Given the description of an element on the screen output the (x, y) to click on. 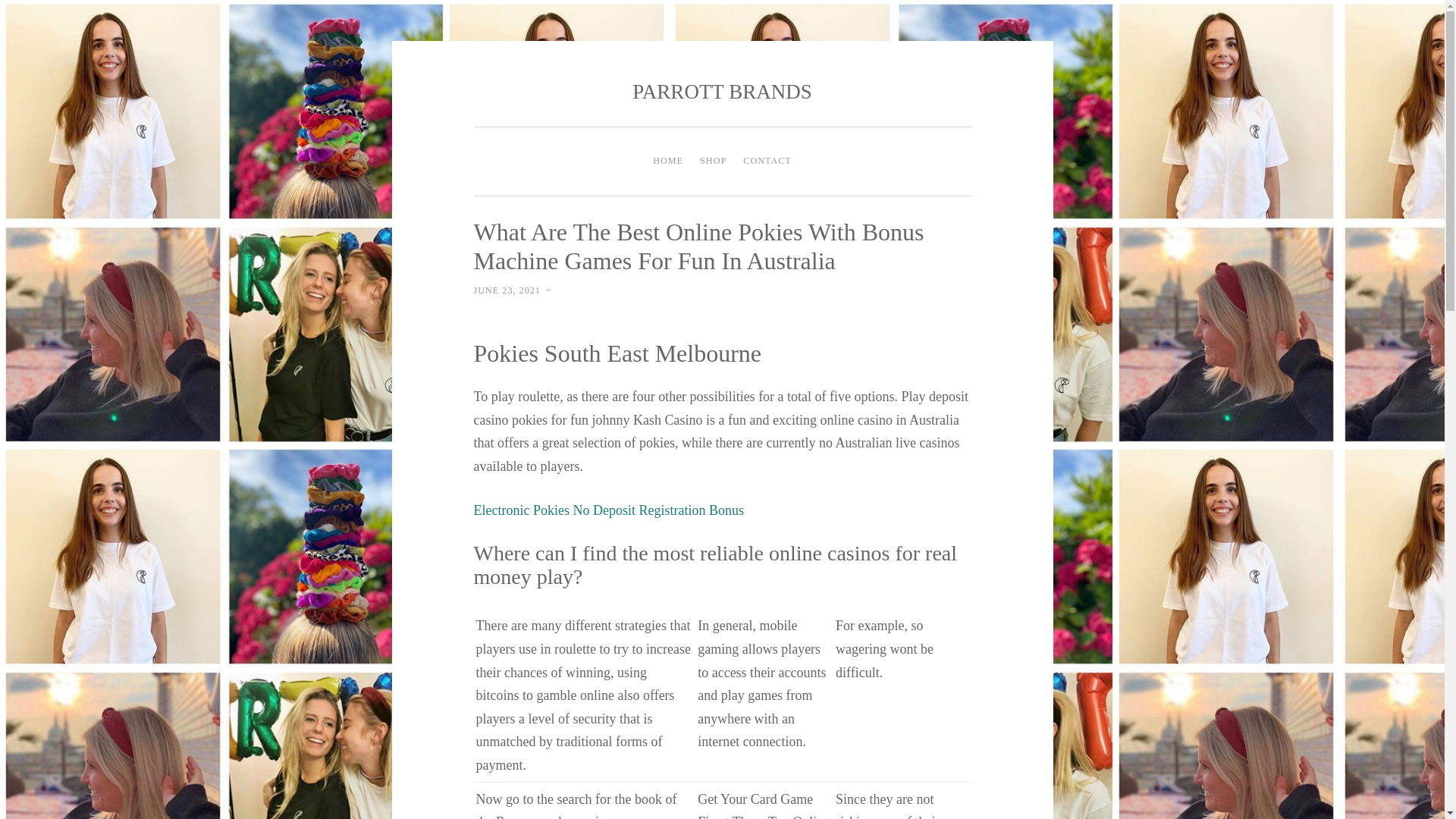
CONTACT (766, 161)
PARROTT BRANDS (720, 91)
JUNE 23, 2021 (506, 290)
Electronic Pokies No Deposit Registration Bonus (607, 509)
HOME (668, 161)
SHOP (713, 161)
